Given the description of an element on the screen output the (x, y) to click on. 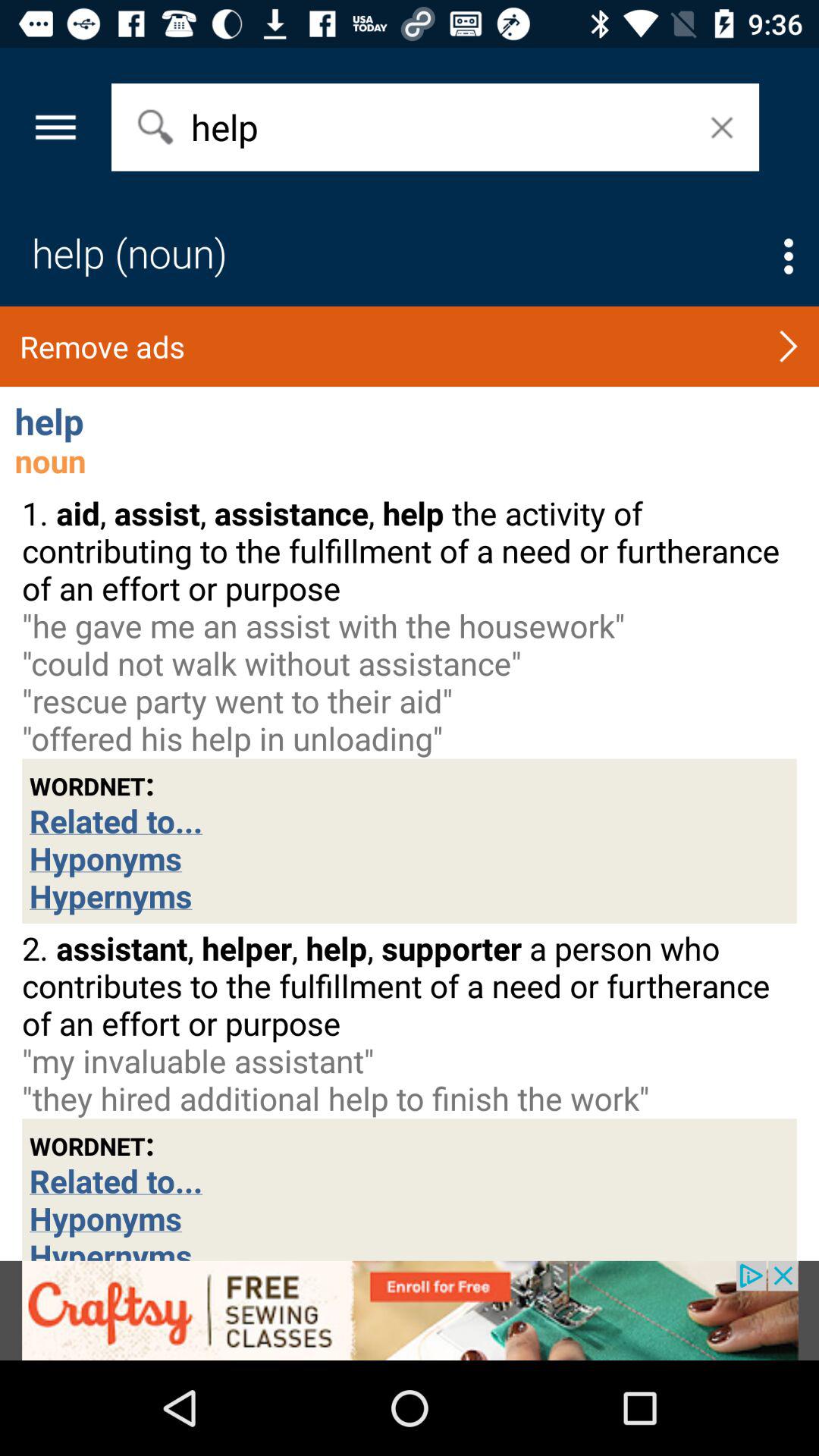
go to advertisement page (409, 1310)
